Given the description of an element on the screen output the (x, y) to click on. 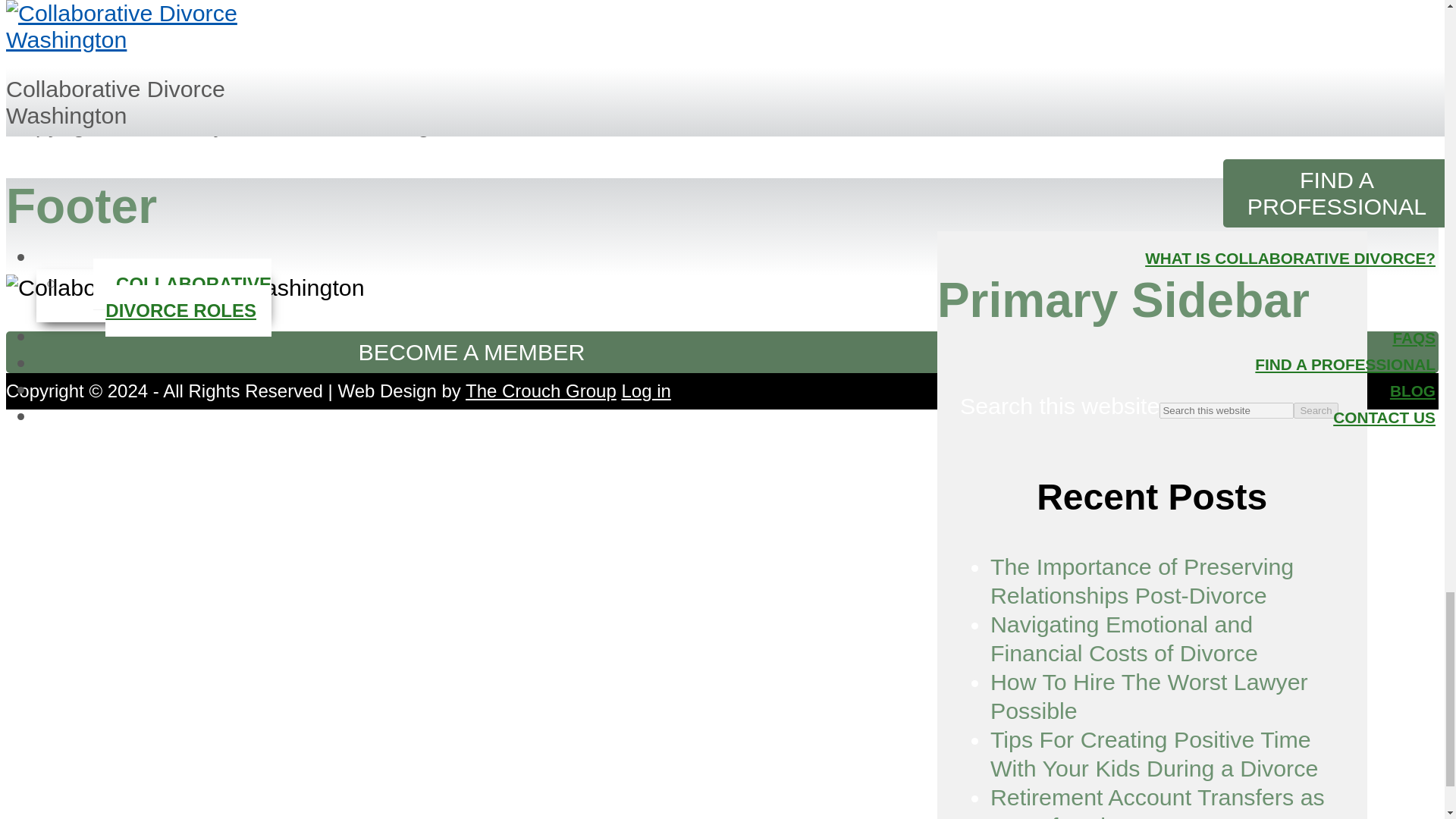
The Importance of Preserving Relationships Post-Divorce (1142, 580)
Search (1316, 410)
Search (1316, 410)
How To Hire The Worst Lawyer Possible (1148, 696)
Log in (645, 390)
Retirement Account Transfers as Part of a Divorce (1157, 801)
The Crouch Group (540, 390)
Search (1316, 410)
Navigating Emotional and Financial Costs of Divorce (1123, 637)
